Given the description of an element on the screen output the (x, y) to click on. 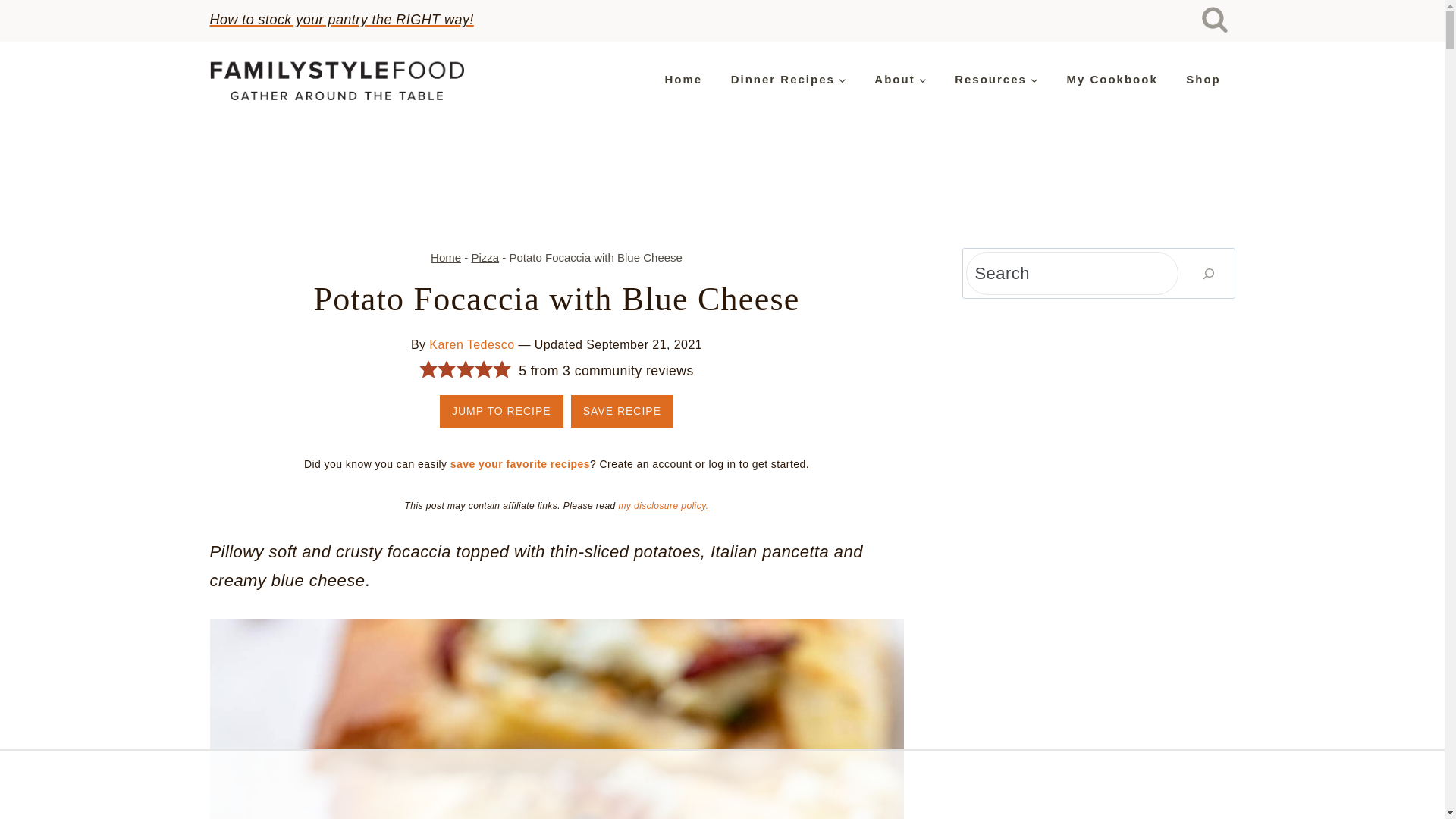
Resources (995, 79)
JUMP TO RECIPE (501, 410)
Home (445, 256)
Karen Tedesco (471, 344)
My Cookbook (1112, 79)
About (900, 79)
save your favorite recipes (519, 463)
my disclosure policy. (662, 505)
Pizza (484, 256)
Dinner Recipes (788, 79)
